Given the description of an element on the screen output the (x, y) to click on. 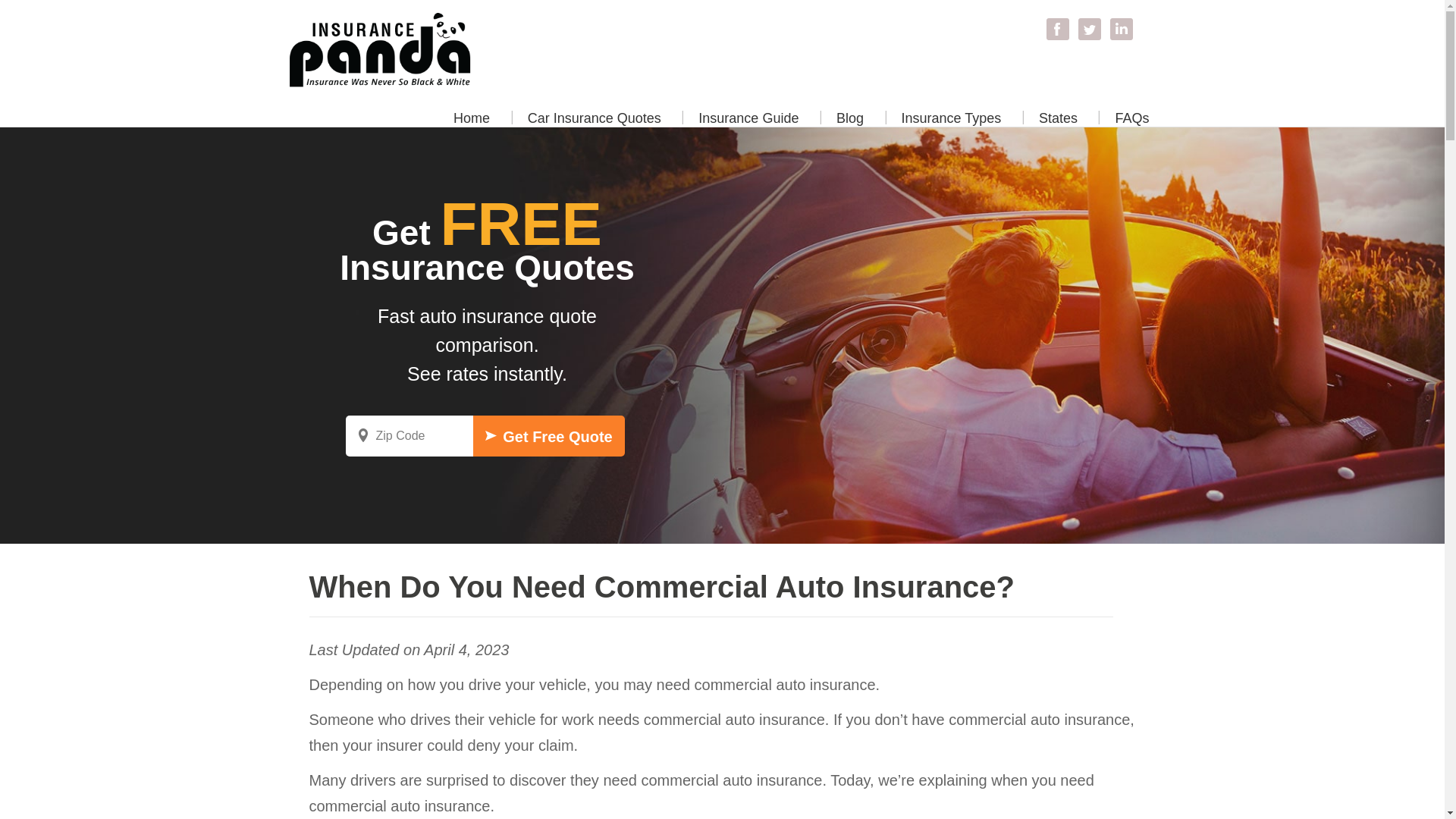
Get Free Quote (548, 435)
Linkedin (1120, 27)
Home (471, 121)
States (1058, 121)
Blog (849, 121)
Insurance Types (951, 121)
Insurance Guide (748, 121)
Facebook (1056, 27)
Twitter (1088, 27)
FAQs (1131, 121)
